Given the description of an element on the screen output the (x, y) to click on. 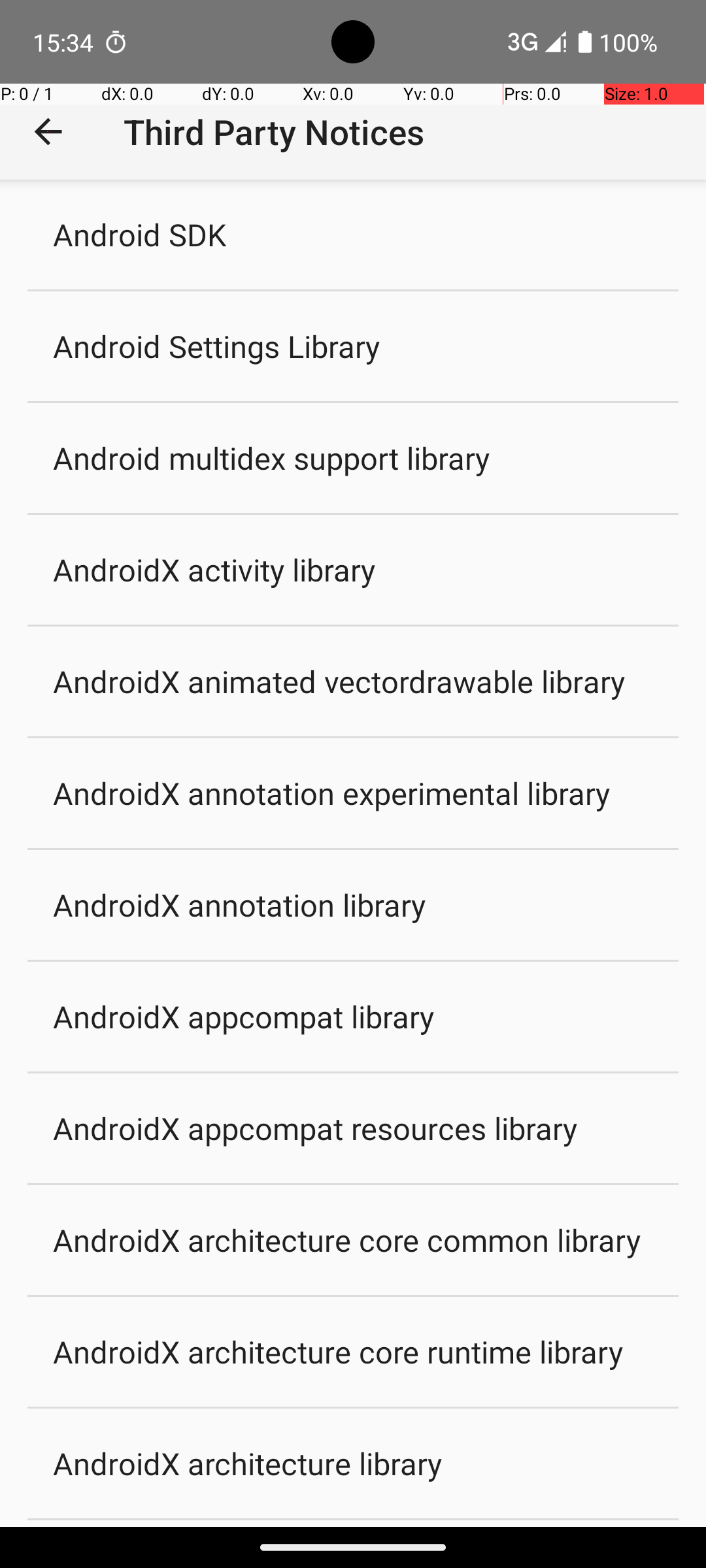
Third Party Notices Element type: android.widget.TextView (273, 131)
Android SDK Element type: android.widget.TextView (139, 233)
Android Settings Library Element type: android.widget.TextView (216, 345)
Android multidex support library Element type: android.widget.TextView (271, 457)
AndroidX activity library Element type: android.widget.TextView (213, 568)
AndroidX animated vectordrawable library Element type: android.widget.TextView (338, 680)
AndroidX annotation experimental library Element type: android.widget.TextView (331, 792)
AndroidX annotation library Element type: android.widget.TextView (239, 904)
AndroidX appcompat library Element type: android.widget.TextView (243, 1015)
AndroidX appcompat resources library Element type: android.widget.TextView (314, 1127)
AndroidX architecture core common library Element type: android.widget.TextView (346, 1239)
AndroidX architecture core runtime library Element type: android.widget.TextView (337, 1351)
AndroidX architecture library Element type: android.widget.TextView (247, 1462)
